Given the description of an element on the screen output the (x, y) to click on. 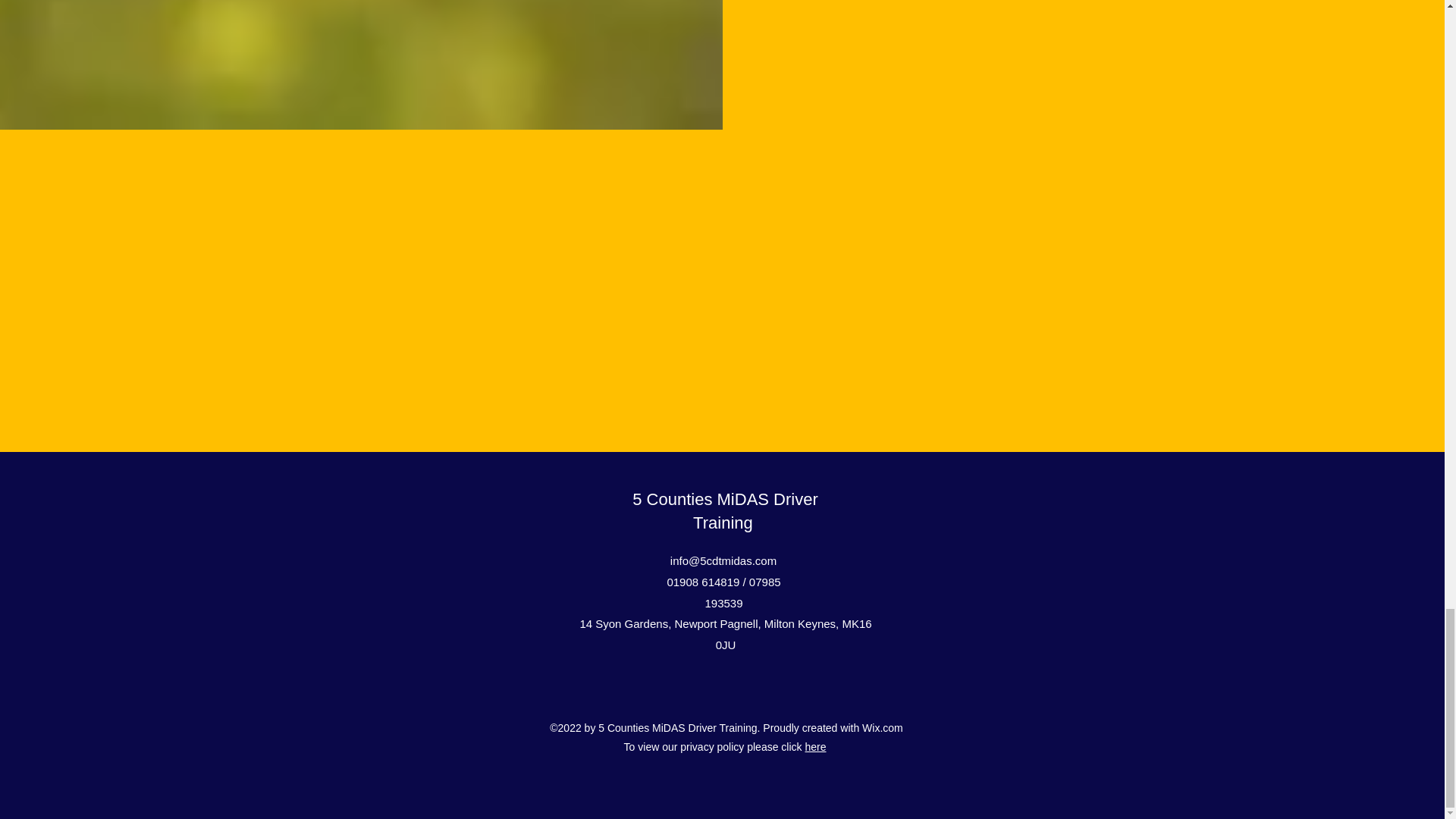
5 Counties MiDAS Driver Training  (724, 510)
here (815, 746)
